Given the description of an element on the screen output the (x, y) to click on. 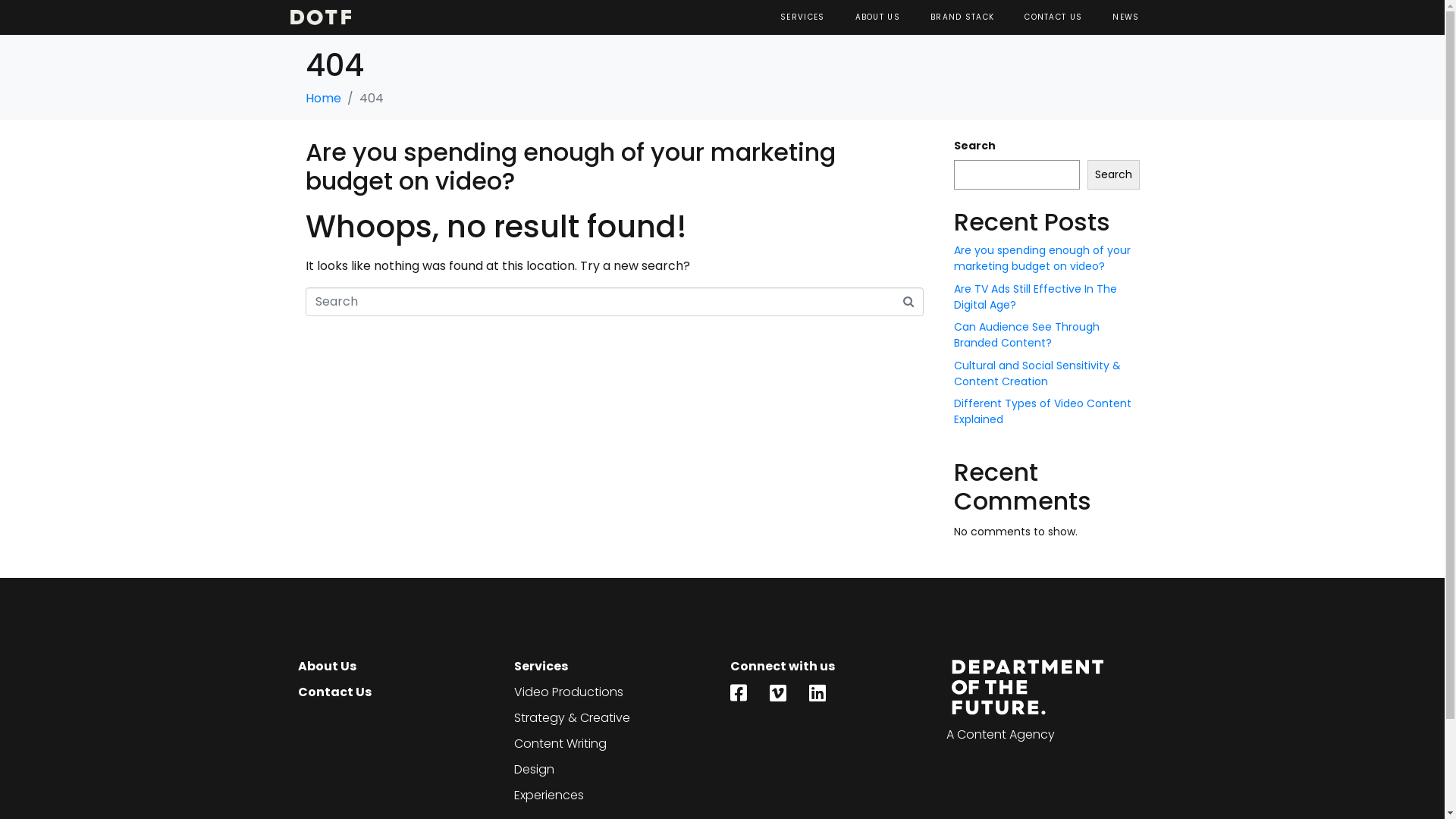
ABOUT US Element type: text (877, 17)
Search Element type: text (1113, 174)
Are you spending enough of your marketing budget on video? Element type: text (1041, 257)
Design Element type: text (614, 769)
Can Audience See Through Branded Content? Element type: text (1026, 334)
NEWS Element type: text (1125, 17)
Video Productions Element type: text (614, 692)
CONTACT US Element type: text (1053, 17)
Experiences Element type: text (614, 795)
logo Element type: hover (319, 17)
Are you spending enough of your marketing budget on video? Element type: text (569, 165)
Are TV Ads Still Effective In The Digital Age? Element type: text (1035, 296)
Home Element type: text (322, 97)
Contact Us Element type: text (397, 692)
Different Types of Video Content Explained Element type: text (1042, 410)
Cultural and Social Sensitivity & Content Creation Element type: text (1036, 373)
Strategy & Creative Element type: text (614, 718)
SERVICES Element type: text (802, 17)
BRAND STACK Element type: text (962, 17)
Content Writing Element type: text (614, 743)
About Us Element type: text (397, 666)
